Given the description of an element on the screen output the (x, y) to click on. 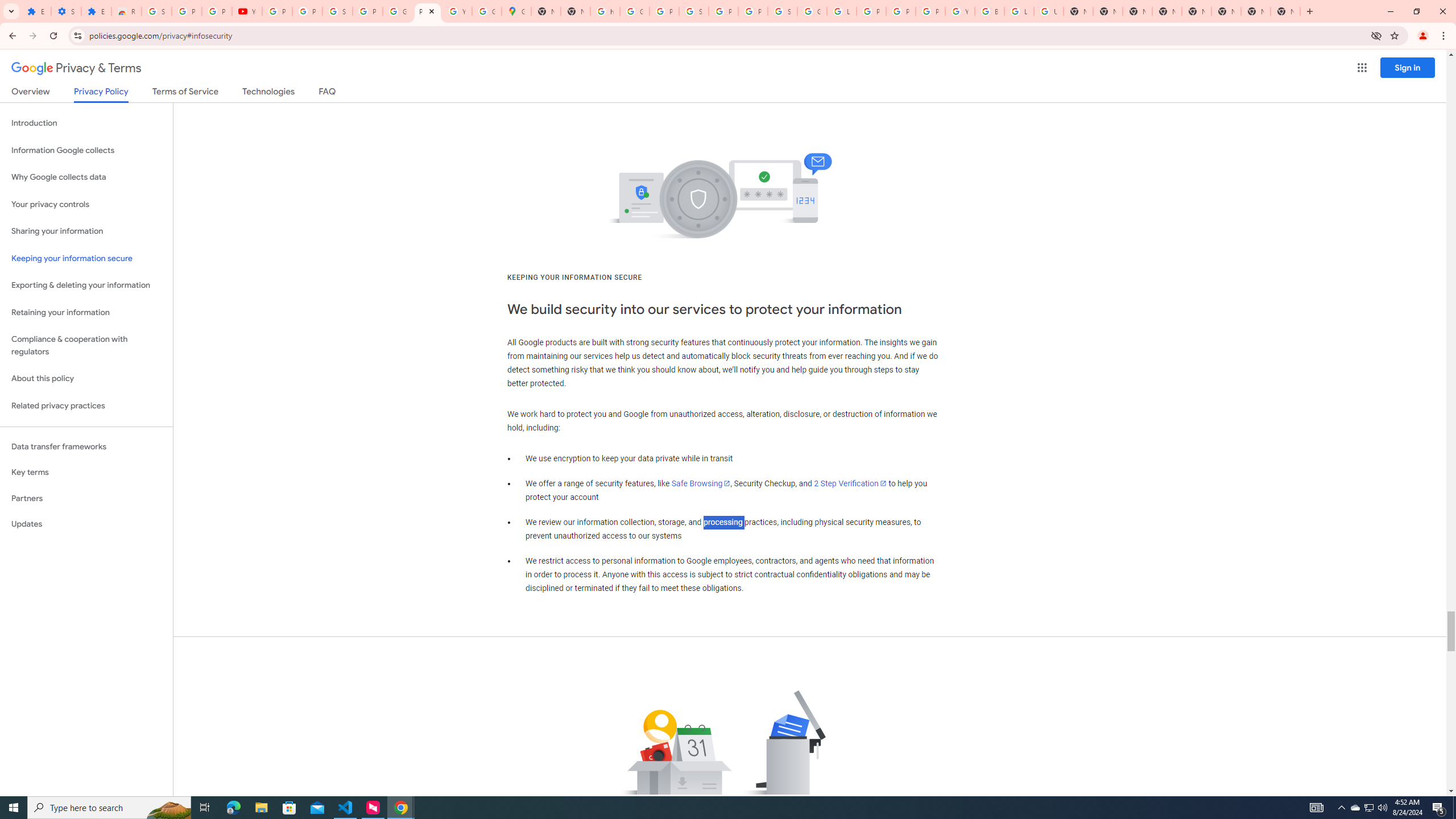
YouTube (456, 11)
Privacy Help Center - Policies Help (871, 11)
Reviews: Helix Fruit Jump Arcade Game (126, 11)
Related privacy practices (86, 405)
